Given the description of an element on the screen output the (x, y) to click on. 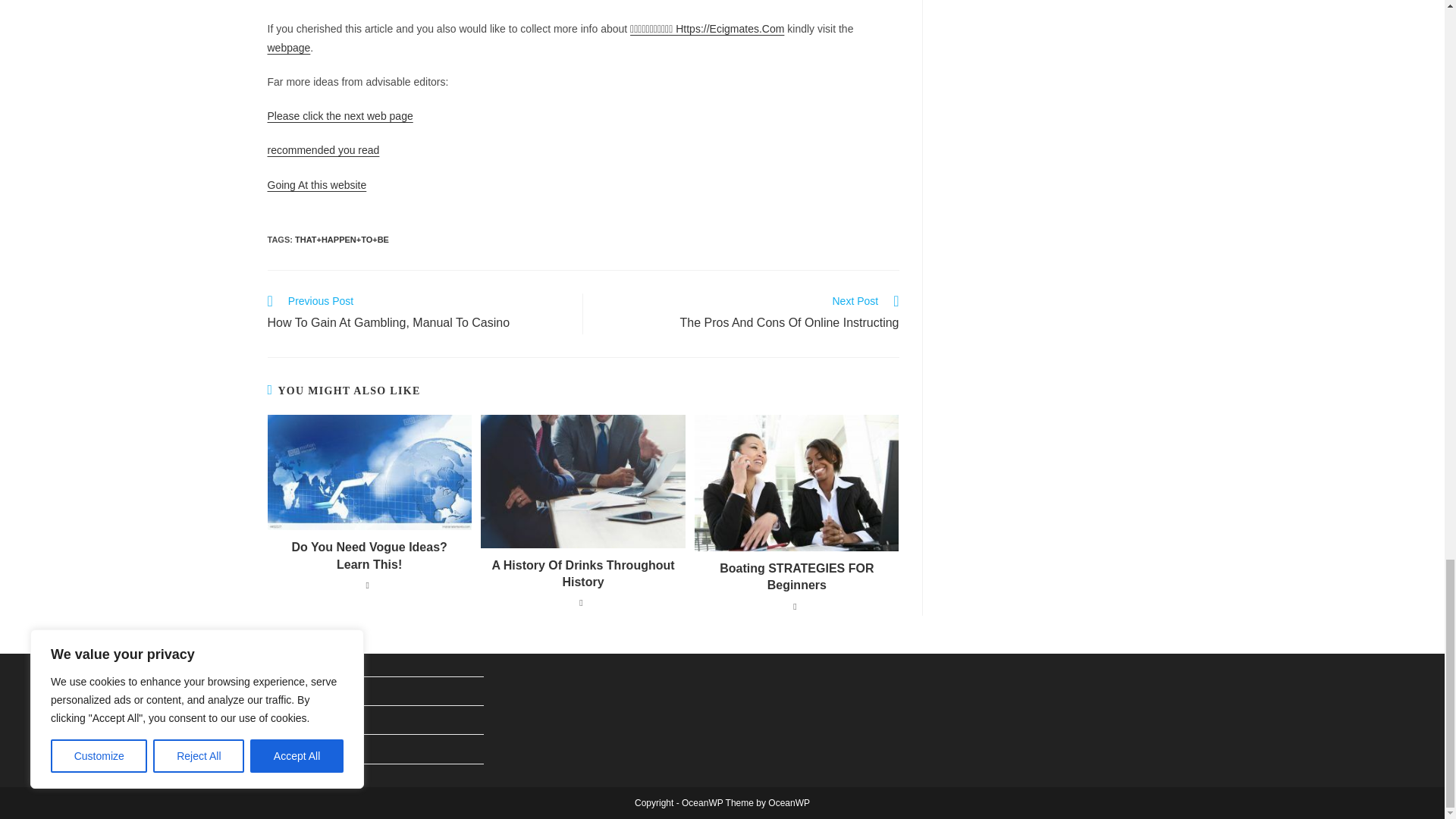
recommended you read (322, 150)
Please click the next web page (339, 115)
webpage (288, 47)
Going At this website (748, 313)
Do You Need Vogue Ideas? Learn This! (316, 184)
